Given the description of an element on the screen output the (x, y) to click on. 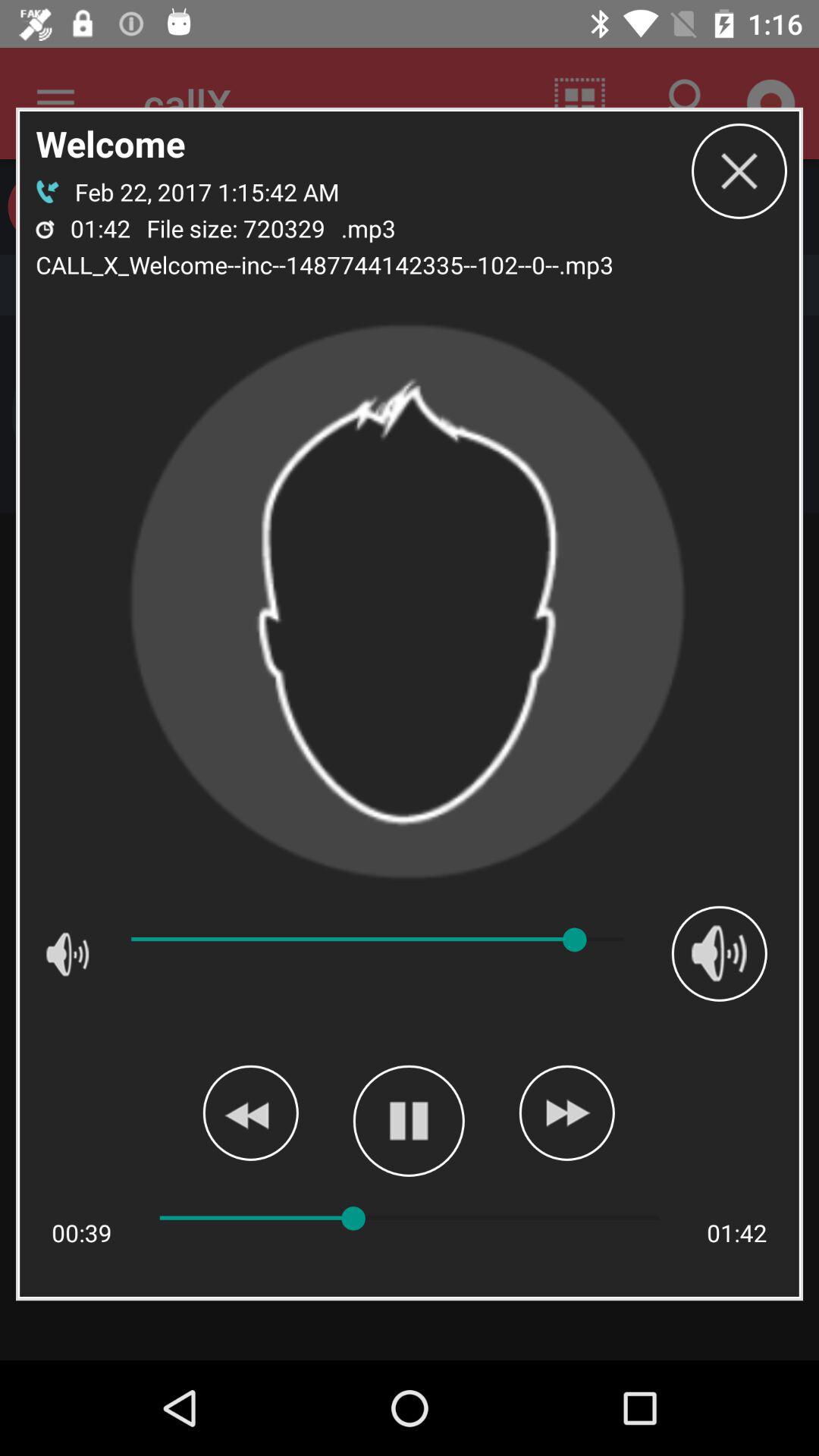
go to close (739, 170)
